Given the description of an element on the screen output the (x, y) to click on. 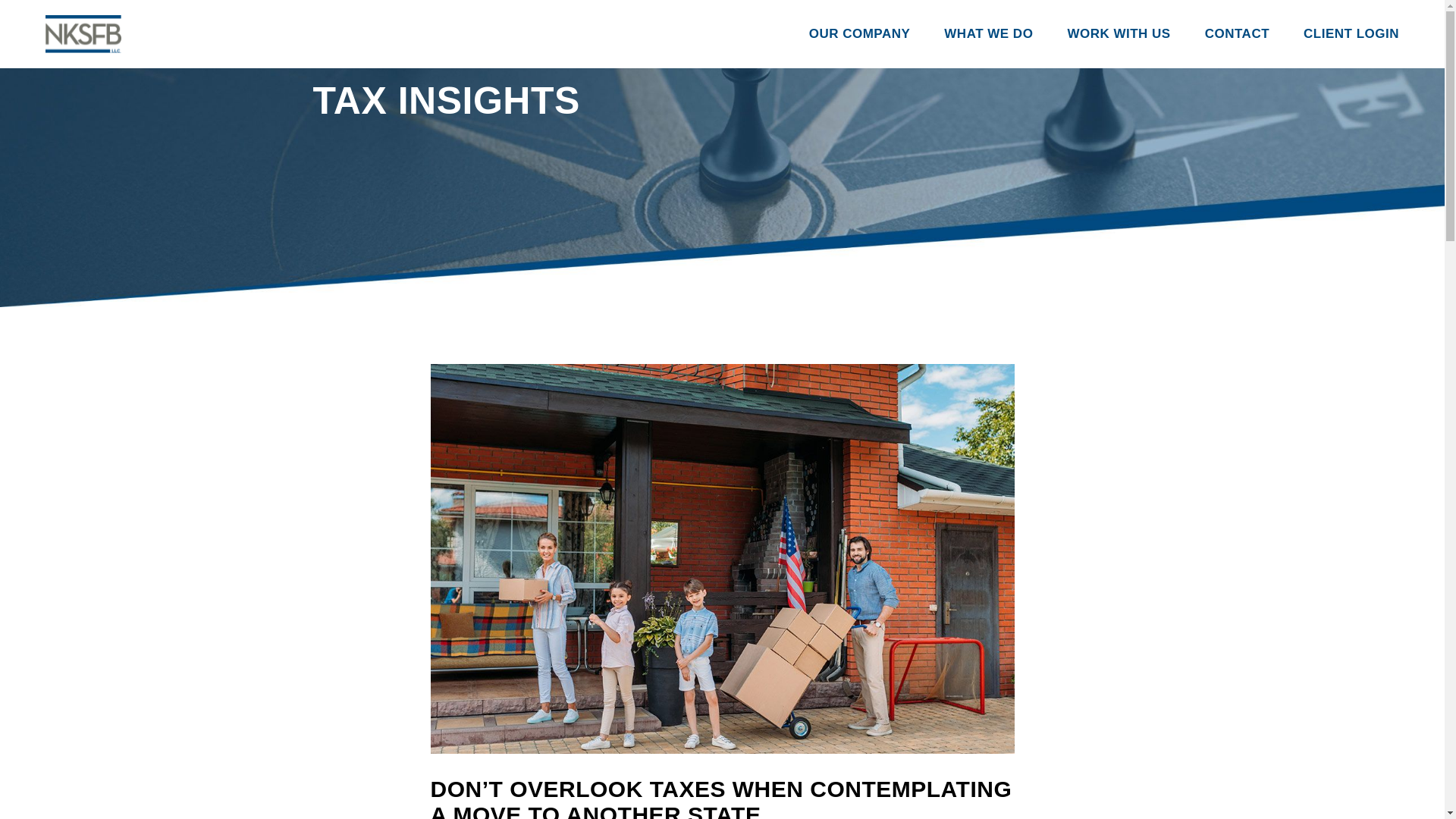
Athlete Services (1090, 153)
Available Positions (1195, 153)
Forensic Accounting (1090, 237)
Recording Artist Services (1090, 97)
Careers at NKSFB (1195, 69)
CLIENT LOGIN (1351, 33)
Office Locations (938, 295)
WHAT WE DO (987, 33)
CONTACT (1237, 33)
Our Path (938, 125)
OUR COMPANY (860, 33)
Tax Insights (938, 265)
Partners (938, 97)
Business Management (1090, 69)
Tax (1090, 182)
